Given the description of an element on the screen output the (x, y) to click on. 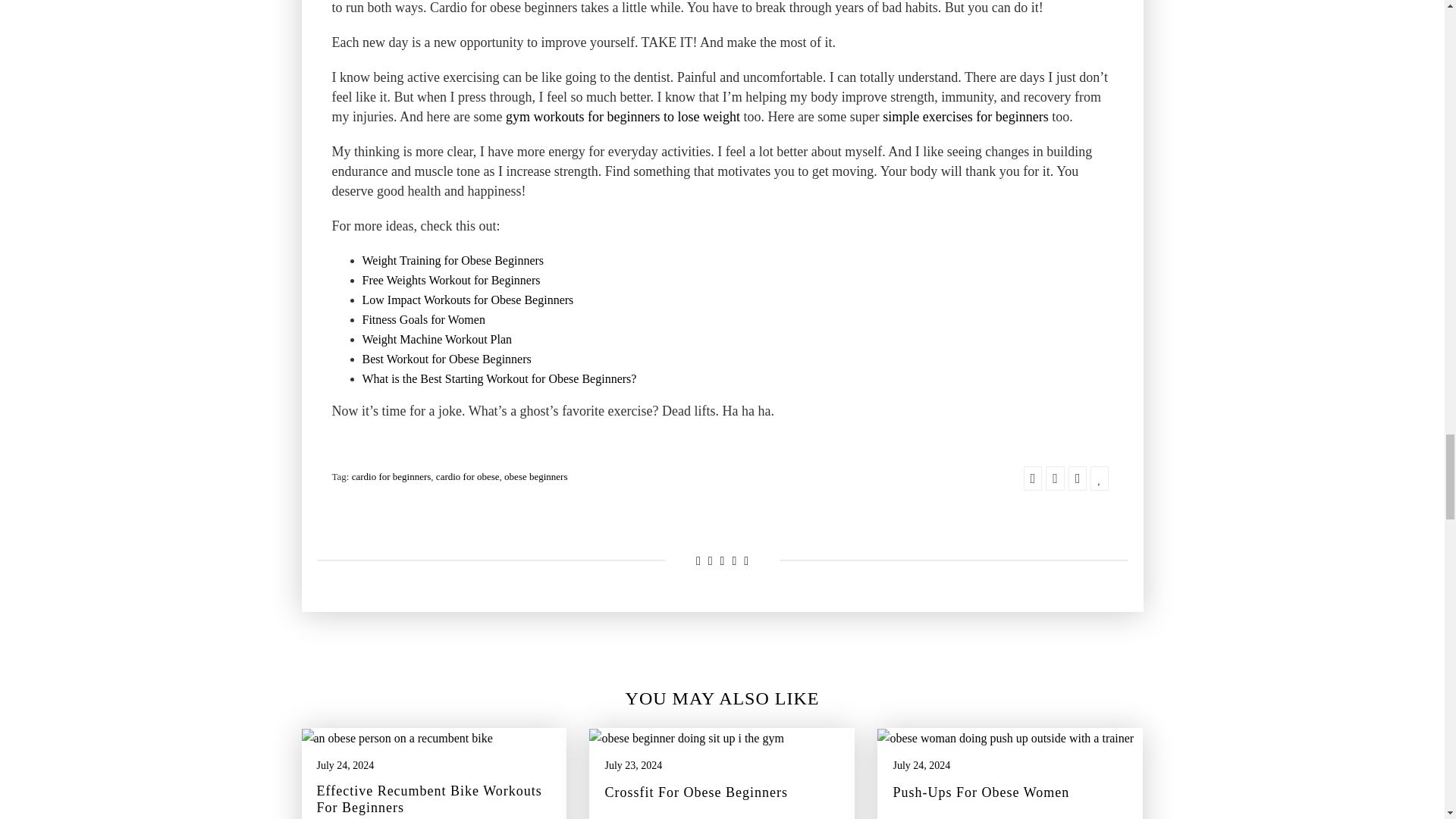
Best Workout for Obese Beginners (446, 359)
obese beginners (535, 476)
What is the Best Starting Workout for Obese Beginners? (499, 379)
Weight Training for Obese Beginners (453, 260)
cardio for obese (467, 476)
Free Weights Workout for Beginners (451, 280)
gym workouts for beginners to lose weight (622, 116)
Weight Machine Workout Plan (437, 339)
cardio for beginners (391, 476)
Fitness Goals for Women (423, 320)
Low Impact Workouts for Obese Beginners (467, 300)
simple exercises for beginners (965, 116)
